Given the description of an element on the screen output the (x, y) to click on. 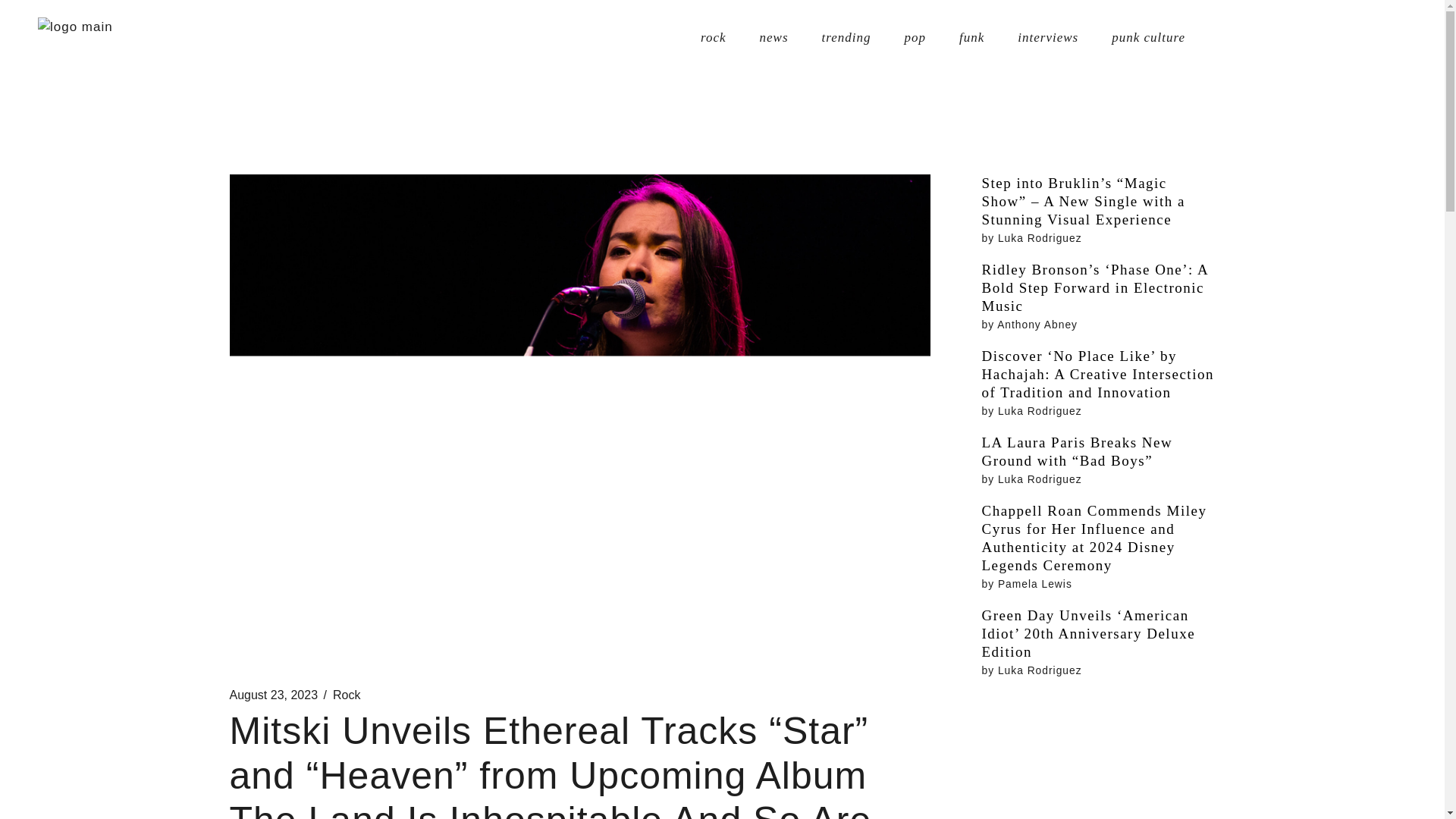
August 23, 2023 (272, 694)
Rock (346, 694)
interviews (1048, 38)
punk culture (1147, 38)
